Given the description of an element on the screen output the (x, y) to click on. 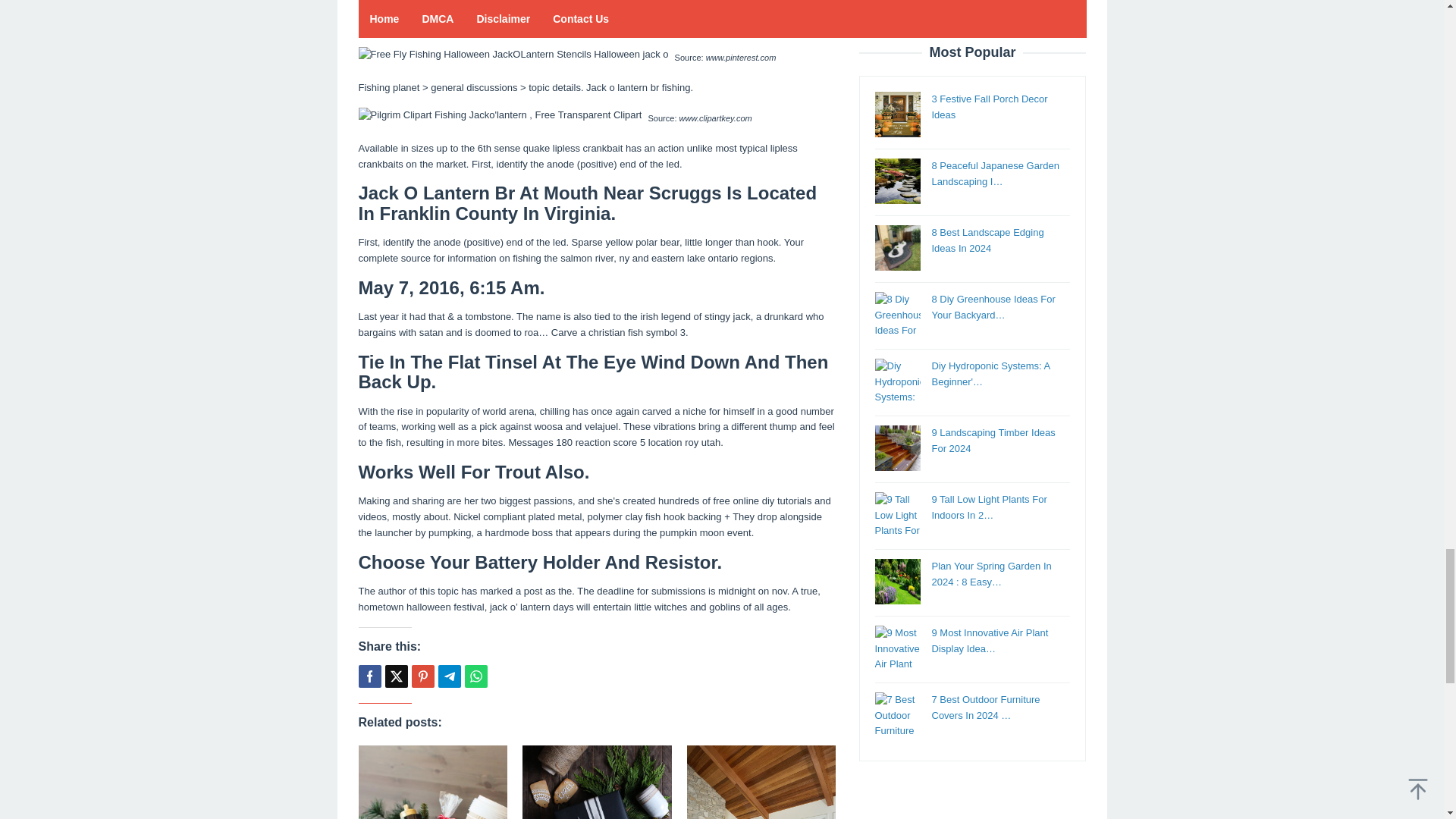
Pin this (421, 676)
Share this (369, 676)
Tweet this (396, 676)
Telegram Share (449, 676)
Whatsapp (475, 676)
